Given the description of an element on the screen output the (x, y) to click on. 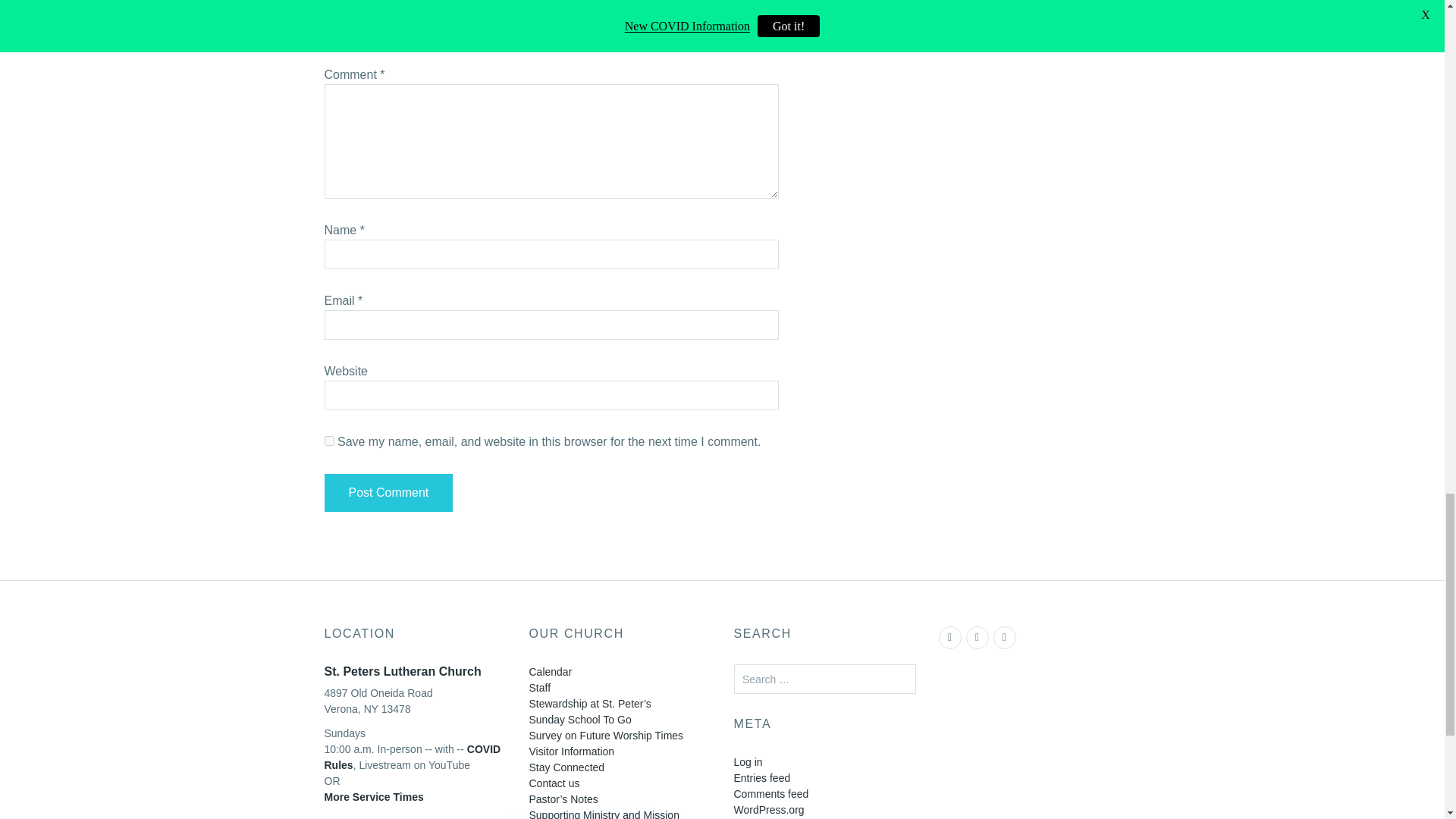
Corona Virus (412, 756)
yes (329, 440)
Post Comment (388, 492)
How do I get there? (373, 805)
